Given the description of an element on the screen output the (x, y) to click on. 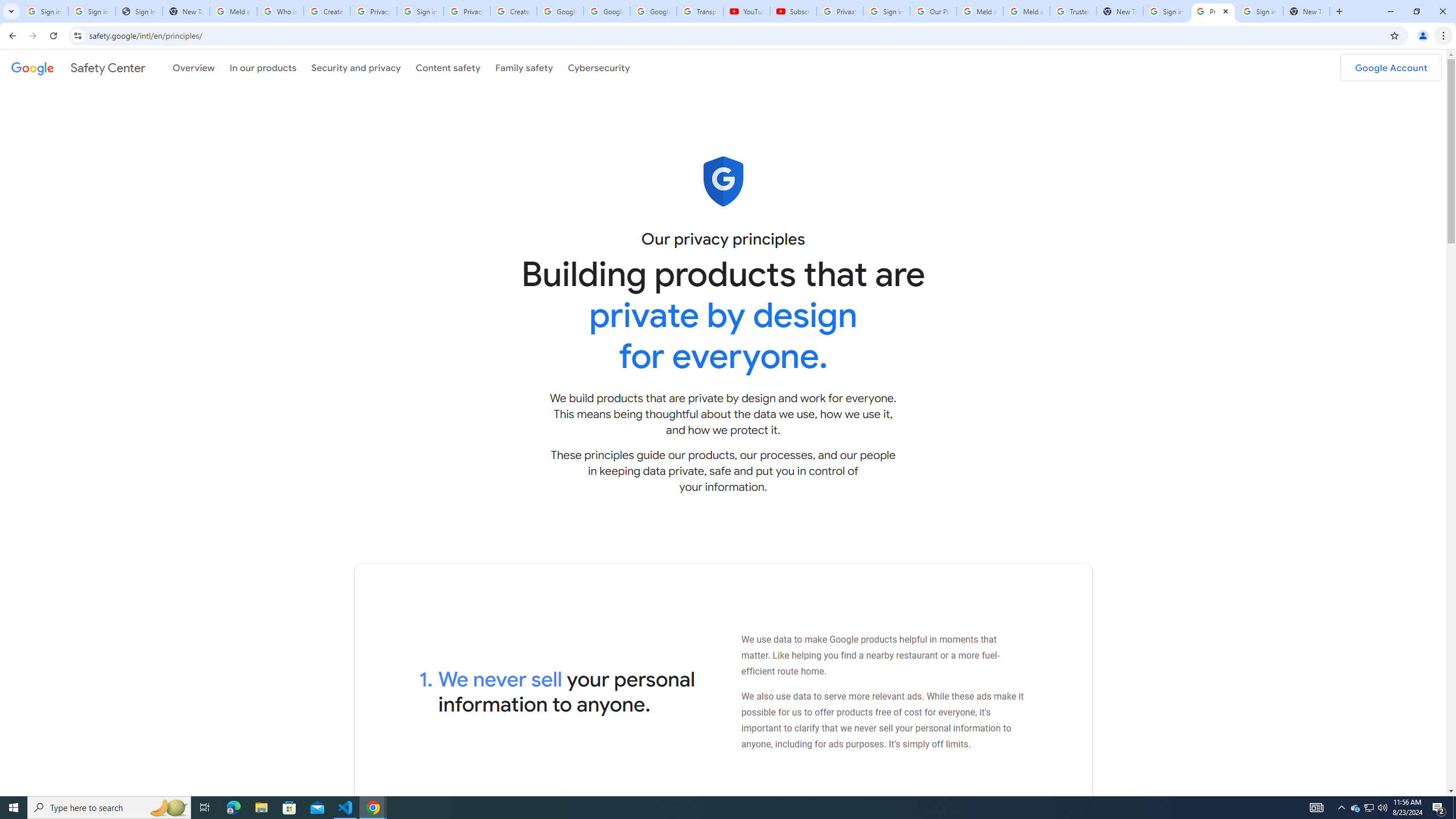
Subscriptions - YouTube (792, 11)
New Tab (1120, 11)
Cybersecurity (598, 67)
Trusted Information and Content - Google Safety Center (1073, 11)
Sign in - Google Accounts (886, 11)
New Tab (1306, 11)
Content safety (447, 67)
Google Account (1390, 67)
YouTube (745, 11)
Sign in - Google Accounts (91, 11)
